Given the description of an element on the screen output the (x, y) to click on. 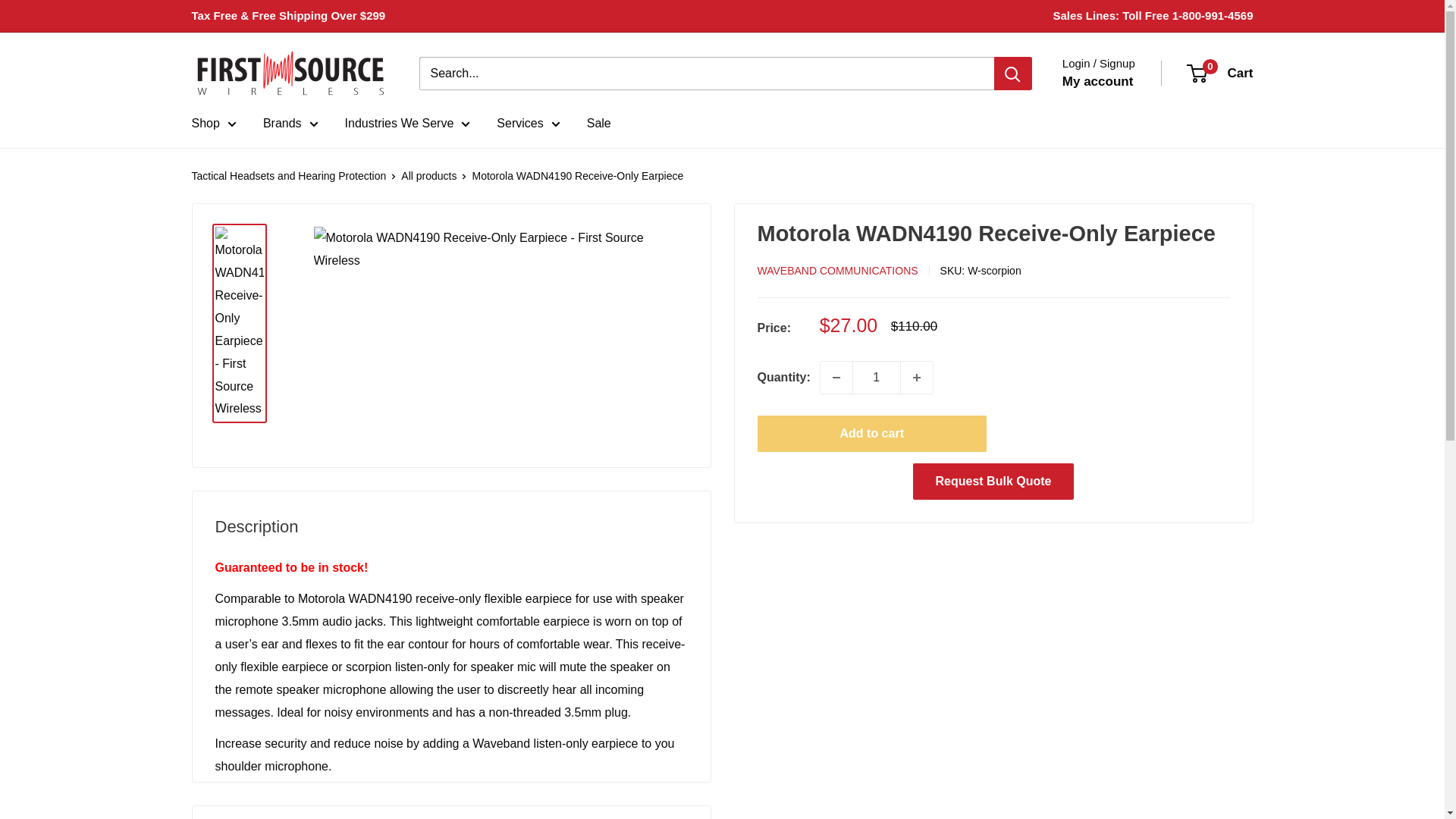
1 (876, 377)
tel:800-991-4569 (1212, 15)
1-800-991-4569 (1212, 15)
Increase quantity by 1 (917, 377)
Decrease quantity by 1 (836, 377)
